Given the description of an element on the screen output the (x, y) to click on. 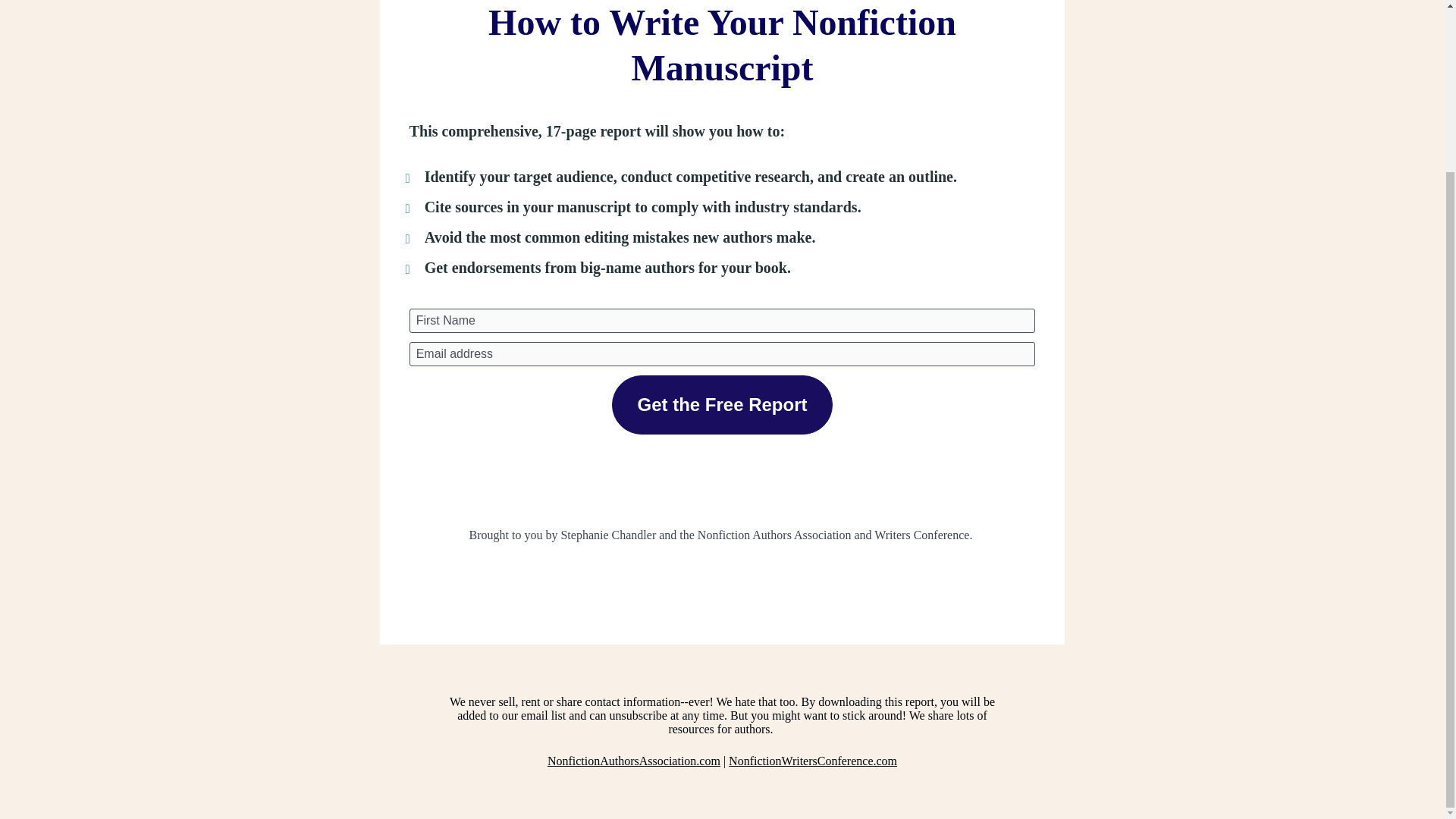
NonfictionWritersConference.com (812, 760)
NonfictionAuthorsAssociation.com (633, 760)
Get the Free Report (721, 404)
